Given the description of an element on the screen output the (x, y) to click on. 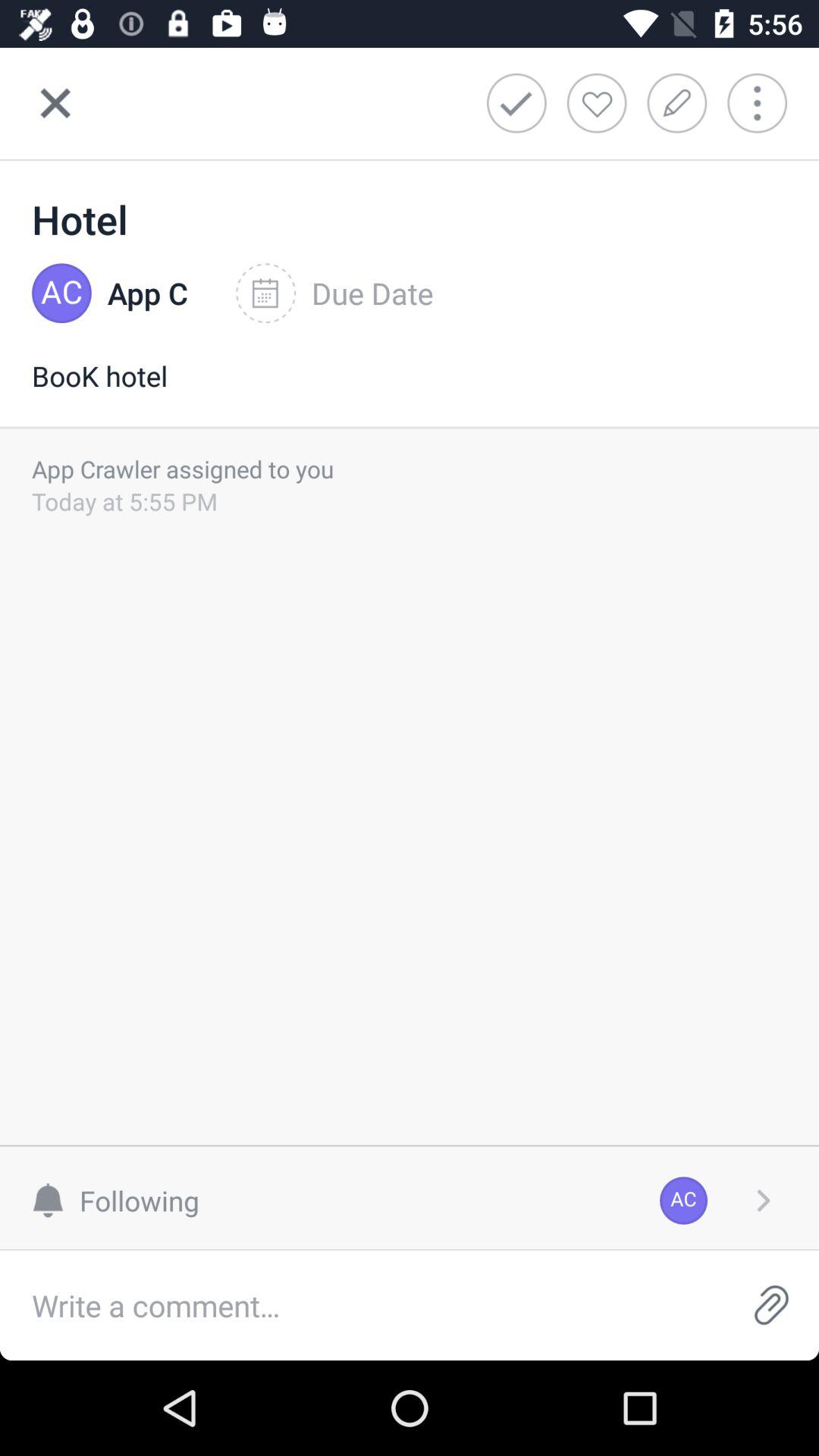
go to other options (768, 103)
